Given the description of an element on the screen output the (x, y) to click on. 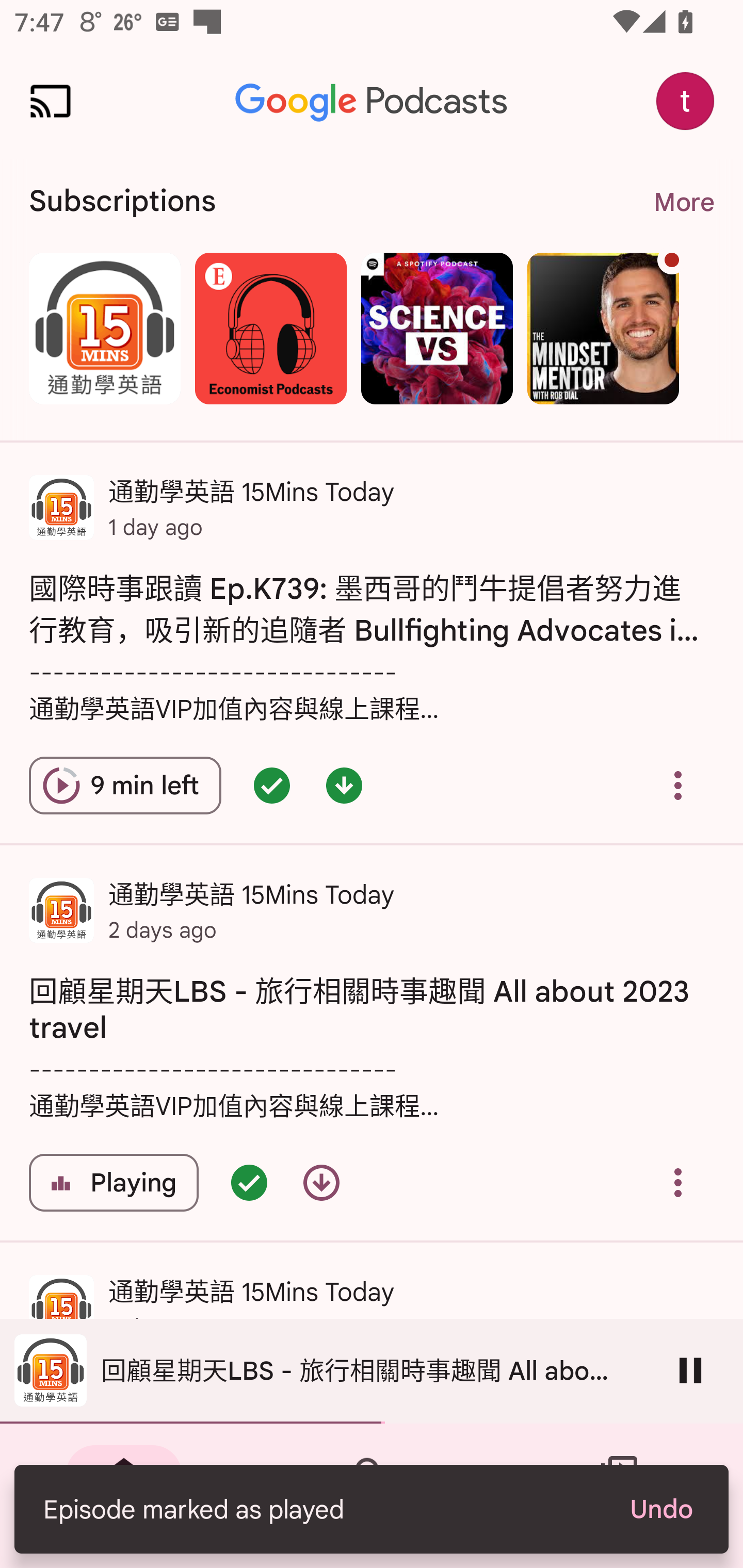
Cast. Disconnected (50, 101)
More More. Navigate to subscriptions page. (683, 202)
通勤學英語 15Mins Today (104, 328)
Economist Podcasts (270, 328)
Science Vs (436, 328)
The Mindset Mentor (603, 328)
Episode queued - double tap for options (271, 785)
Episode downloaded - double tap for options (344, 785)
Overflow menu (677, 785)
Episode queued - double tap for options (249, 1182)
Download episode (321, 1182)
Overflow menu (677, 1182)
Pause (690, 1370)
Undo (660, 1509)
